Given the description of an element on the screen output the (x, y) to click on. 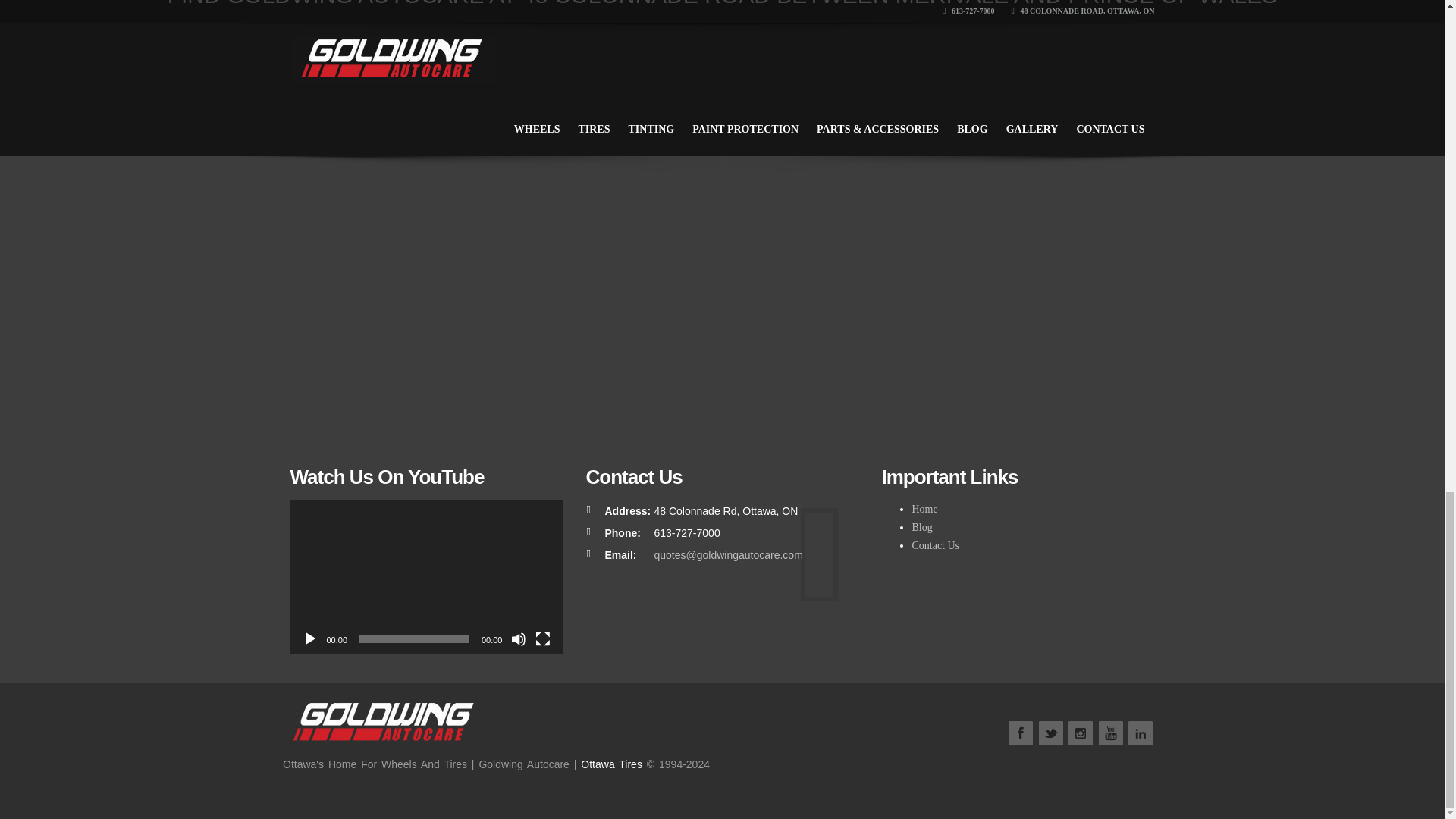
Mute (518, 639)
Play (309, 639)
Fullscreen (542, 639)
